Given the description of an element on the screen output the (x, y) to click on. 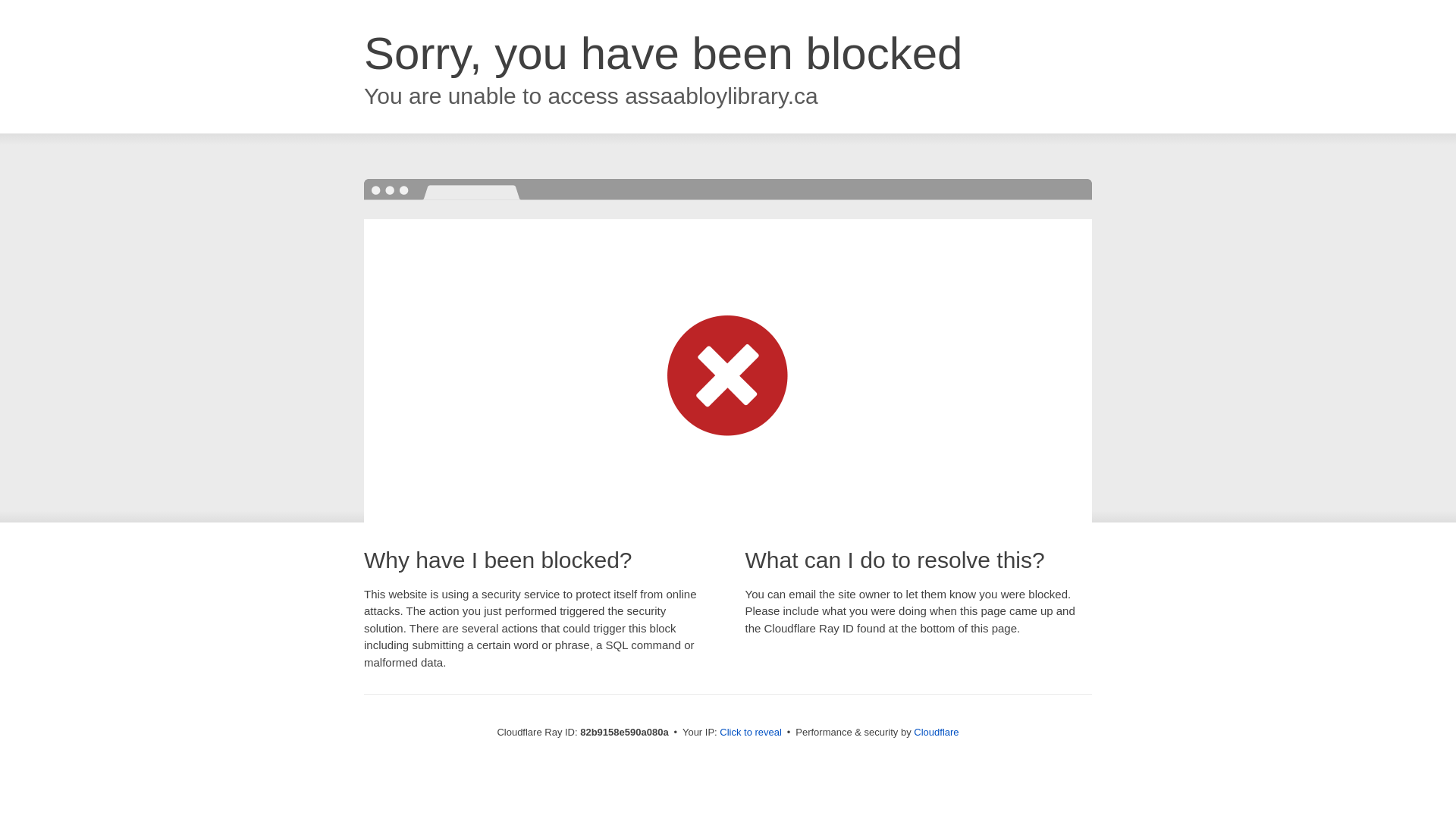
Click to reveal Element type: text (750, 732)
Cloudflare Element type: text (935, 731)
